Given the description of an element on the screen output the (x, y) to click on. 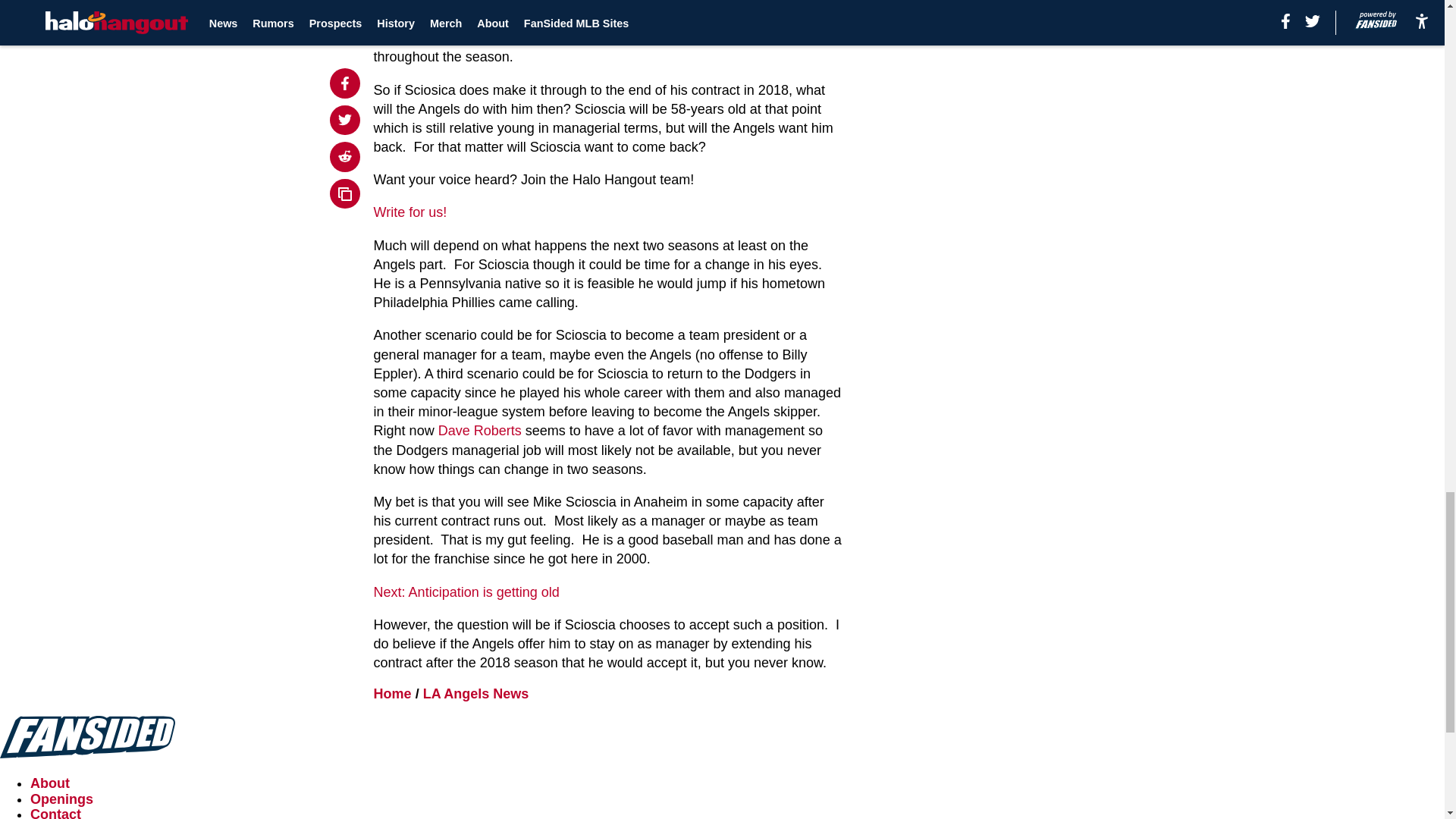
Next: Anticipation is getting old (466, 591)
Dave Roberts (479, 430)
LA Angels News (476, 693)
Write for us! (410, 212)
Home (393, 693)
